Given the description of an element on the screen output the (x, y) to click on. 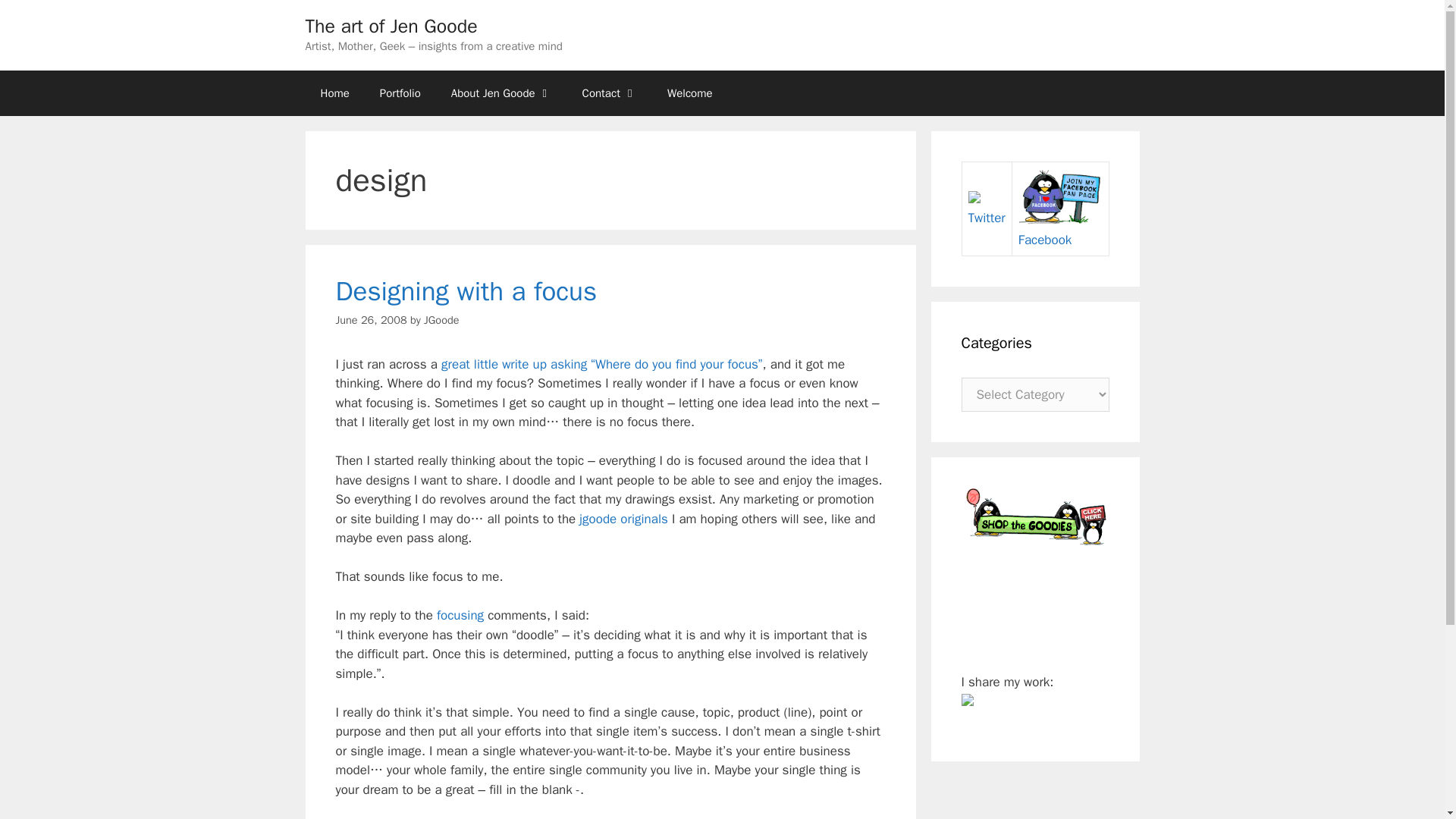
JGoode (440, 319)
Designing with a focus (465, 290)
Welcome (690, 92)
The art of Jen Goode (390, 25)
focusing (459, 615)
Facebook (1059, 230)
About Jen Goode (501, 92)
Portfolio (400, 92)
Home (334, 92)
Contact (609, 92)
Twitter (986, 208)
jgoode originals (622, 519)
View all posts by JGoode (440, 319)
